Given the description of an element on the screen output the (x, y) to click on. 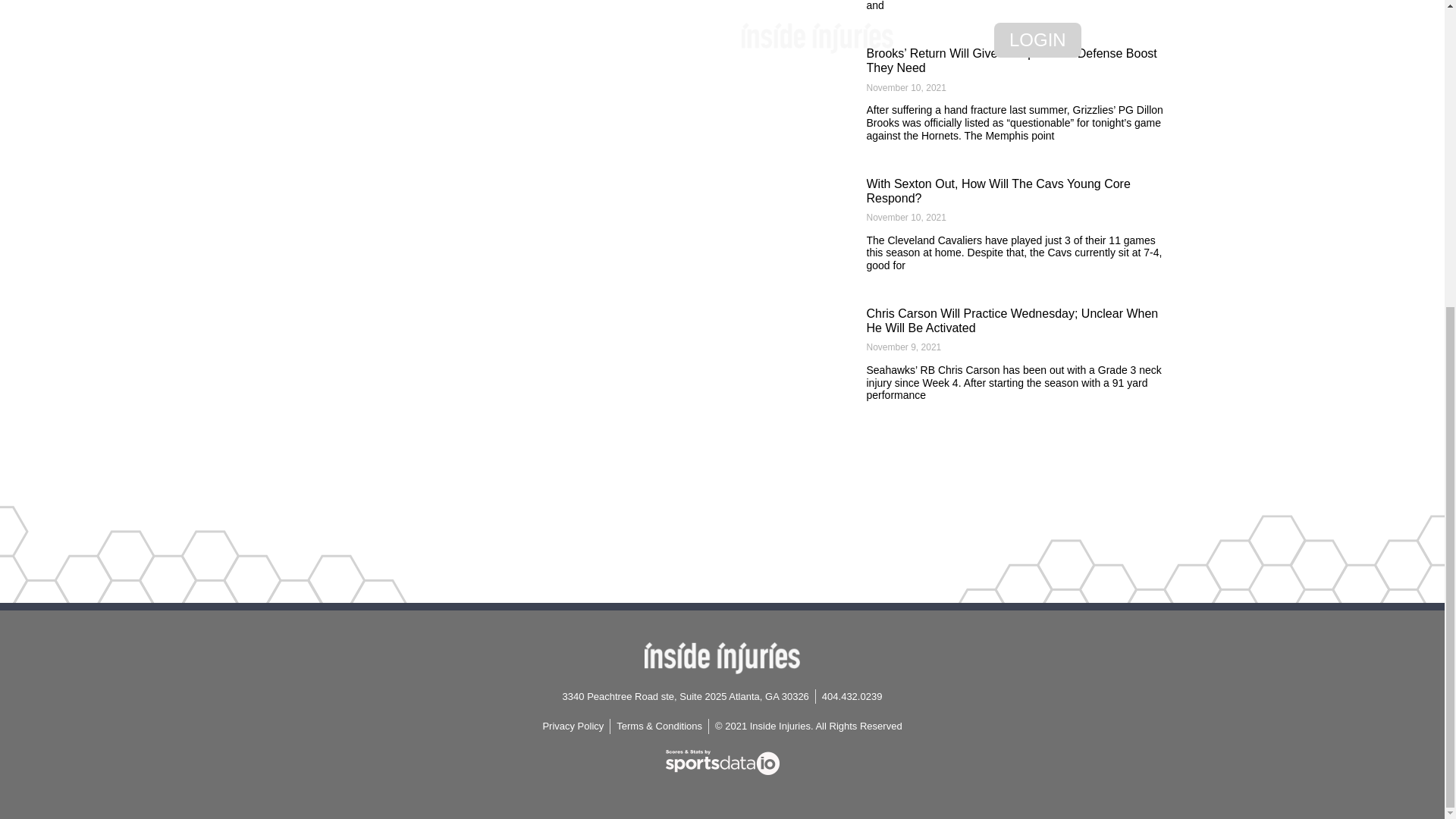
NEXT (782, 6)
With Sexton Out, How Will The Cavs Young Core Respond? (997, 190)
404.432.0239 (852, 696)
Privacy Policy (572, 726)
PREVIOUS (404, 6)
